Given the description of an element on the screen output the (x, y) to click on. 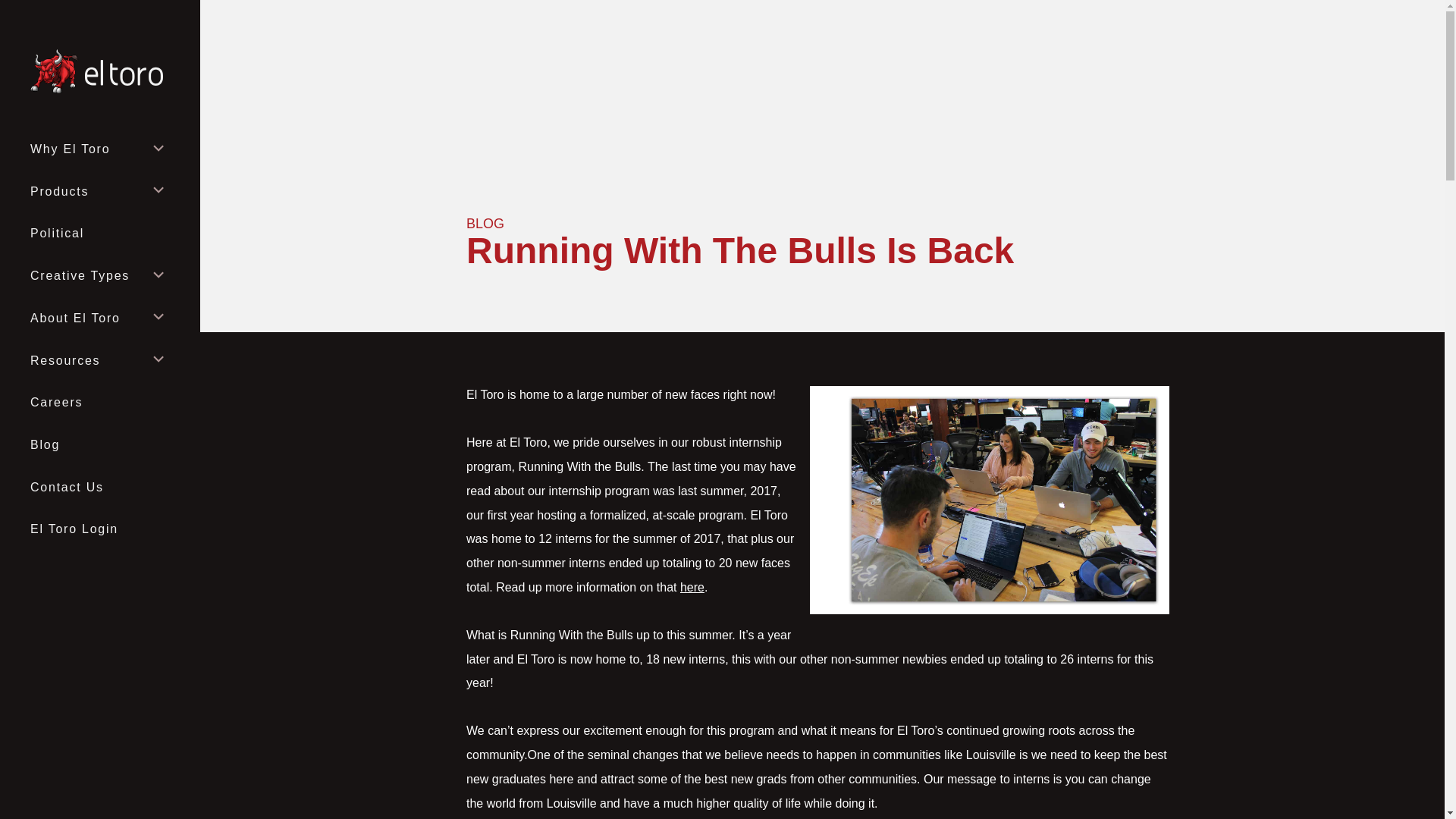
Contact Us (99, 487)
Political (99, 233)
Blog (99, 445)
El Toro Login (99, 529)
Products (99, 191)
Careers (99, 402)
Why El Toro (99, 149)
Resources (99, 361)
Creative Types (99, 276)
About El Toro (99, 318)
